Given the description of an element on the screen output the (x, y) to click on. 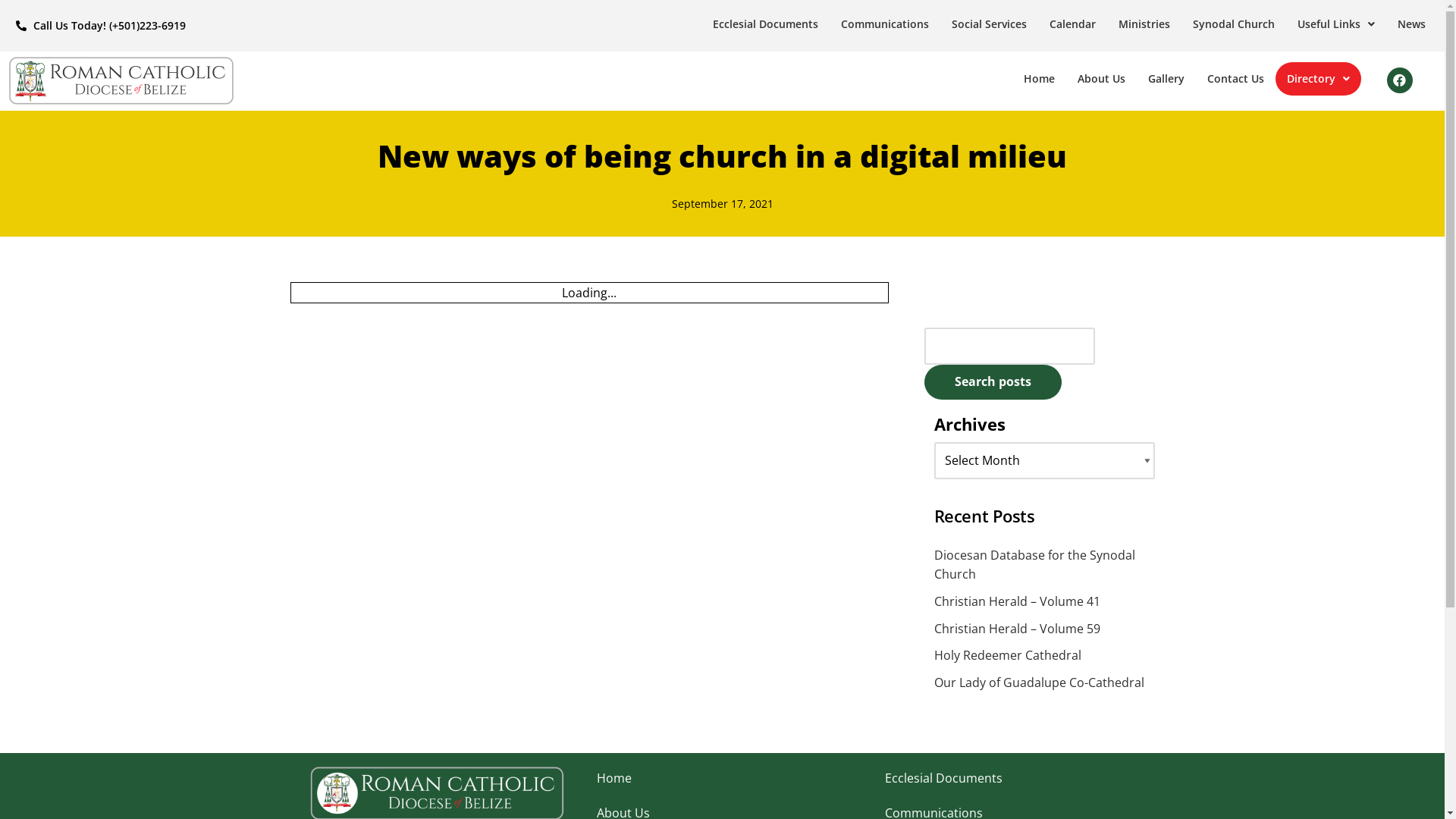
Contact Us Element type: text (1235, 78)
Gallery Element type: text (1165, 78)
Useful Links Element type: text (1336, 23)
Ministries Element type: text (1144, 23)
About Us Element type: text (1101, 78)
Search posts Element type: text (991, 381)
Our Lady of Guadalupe Co-Cathedral Element type: text (1039, 682)
Directory Element type: text (1318, 78)
Diocesan Database for the Synodal Church Element type: text (1034, 564)
Home Element type: text (721, 777)
Communications Element type: text (884, 23)
Ecclesial Documents Element type: text (765, 23)
Skip to content Element type: text (11, 31)
Holy Redeemer Cathedral Element type: text (1007, 654)
Ecclesial Documents Element type: text (1009, 777)
Social Services Element type: text (989, 23)
Synodal Church Element type: text (1233, 23)
Home Element type: text (1039, 78)
Calendar Element type: text (1072, 23)
News Element type: text (1411, 23)
